Given the description of an element on the screen output the (x, y) to click on. 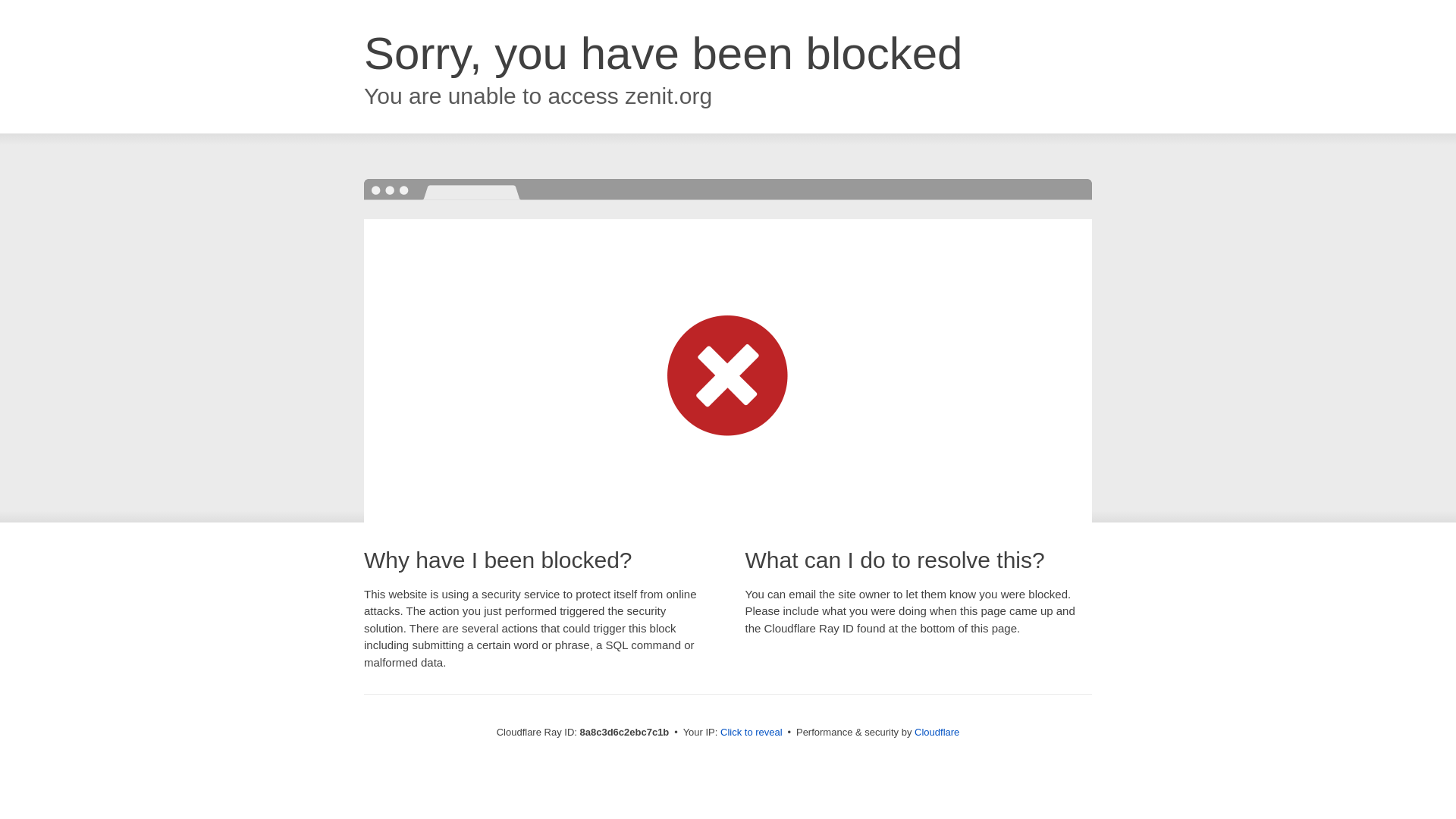
Click to reveal (751, 732)
Cloudflare (936, 731)
